Given the description of an element on the screen output the (x, y) to click on. 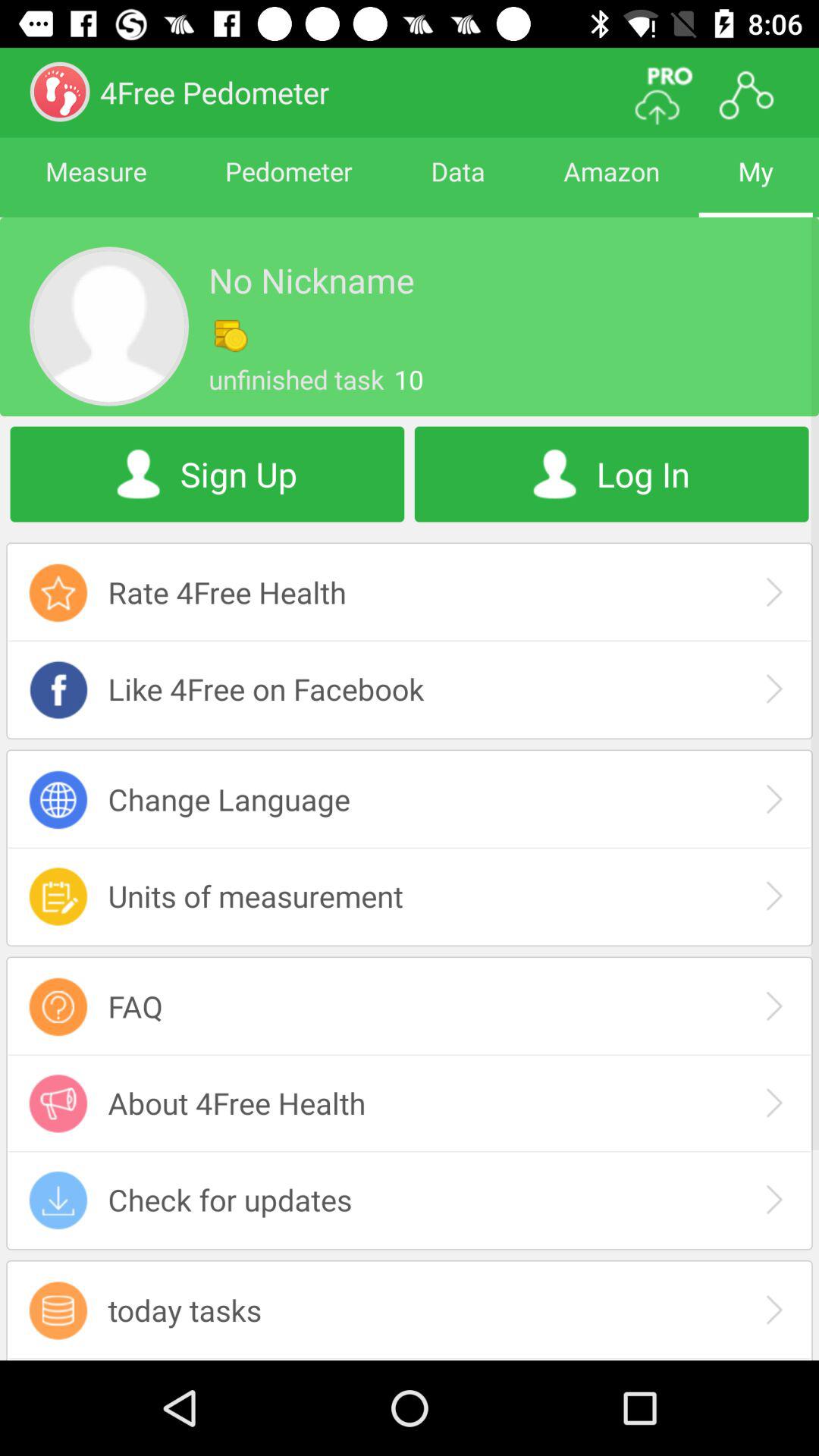
jump to faq app (409, 1006)
